Given the description of an element on the screen output the (x, y) to click on. 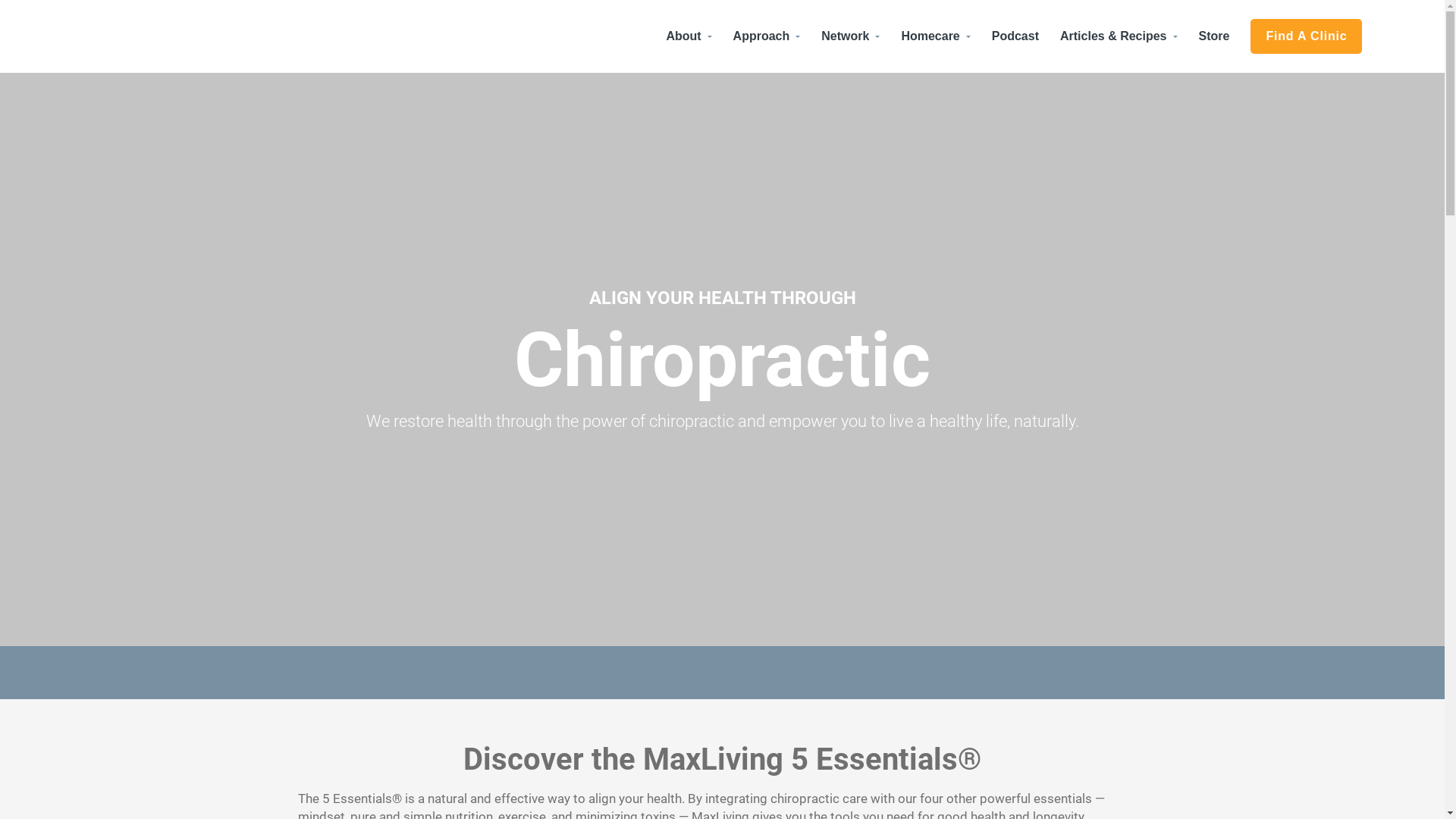
Find A Clinic Element type: text (1305, 35)
Skip to primary navigation Element type: text (0, 0)
Approach Element type: text (766, 36)
Store Element type: text (1214, 36)
MaxLiving Element type: text (52, 183)
Podcast Element type: text (1014, 36)
Articles & Recipes Element type: text (1118, 36)
Network Element type: text (850, 36)
About Element type: text (688, 36)
Homecare Element type: text (934, 36)
